Given the description of an element on the screen output the (x, y) to click on. 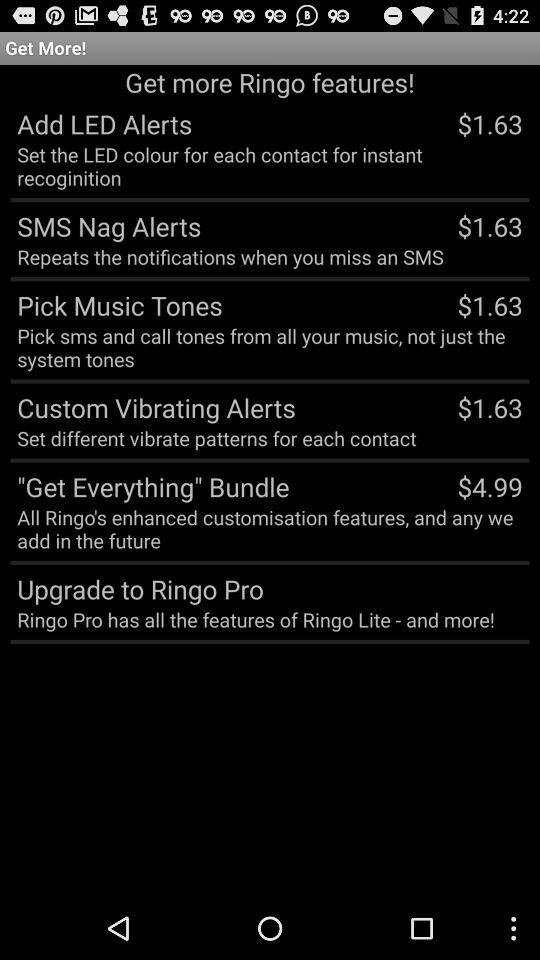
open the icon below set the led app (105, 225)
